Given the description of an element on the screen output the (x, y) to click on. 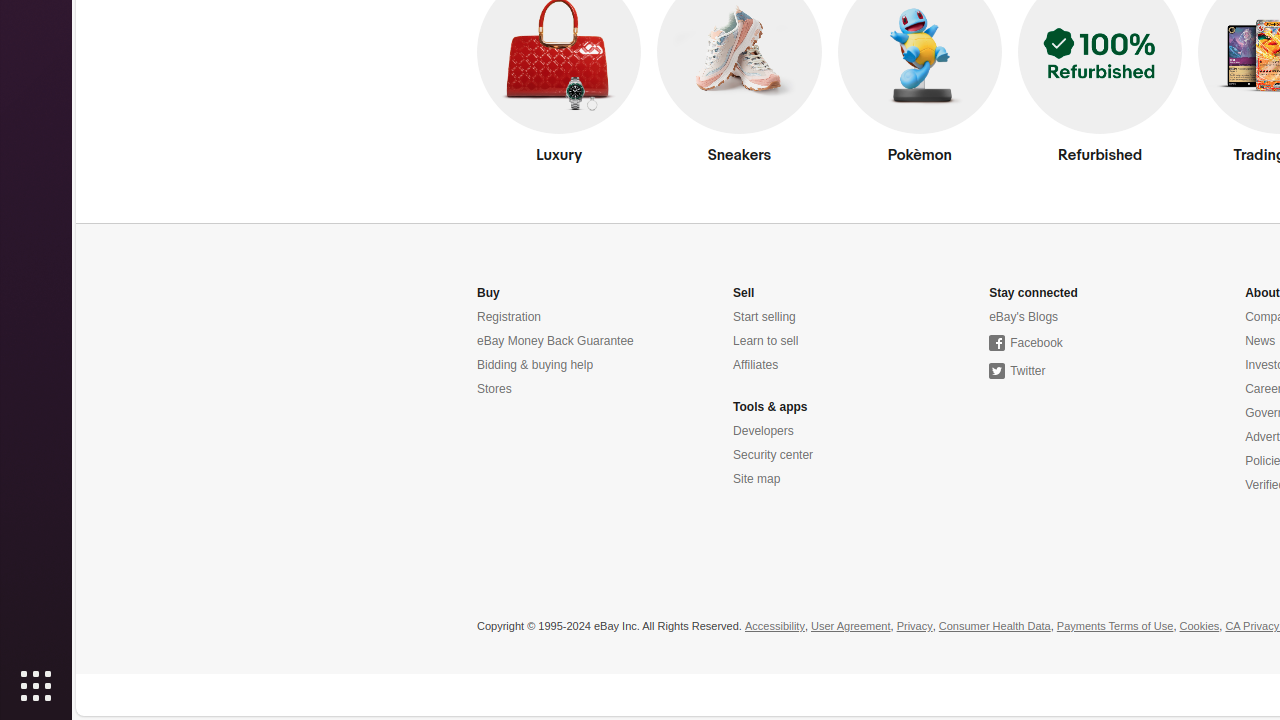
Registration Element type: link (509, 317)
eBay Money Back Guarantee Element type: link (555, 341)
Stores Element type: link (494, 389)
News Element type: link (1260, 341)
Privacy Element type: link (914, 627)
